Given the description of an element on the screen output the (x, y) to click on. 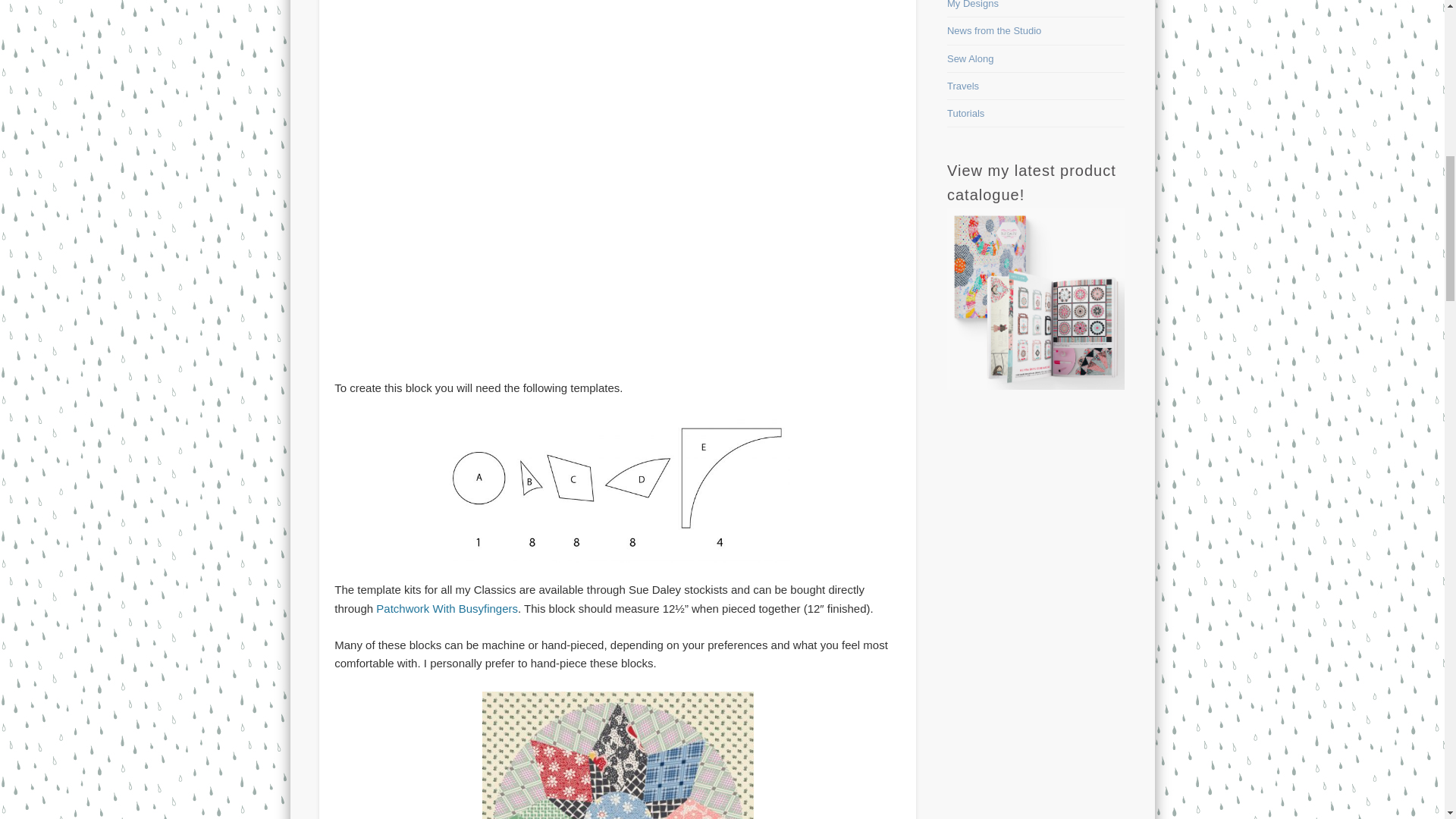
My Designs (972, 4)
Travels (962, 85)
Patchwork With Busyfingers (446, 608)
Tutorials (965, 112)
Sew Along (969, 58)
News from the Studio (994, 30)
